Given the description of an element on the screen output the (x, y) to click on. 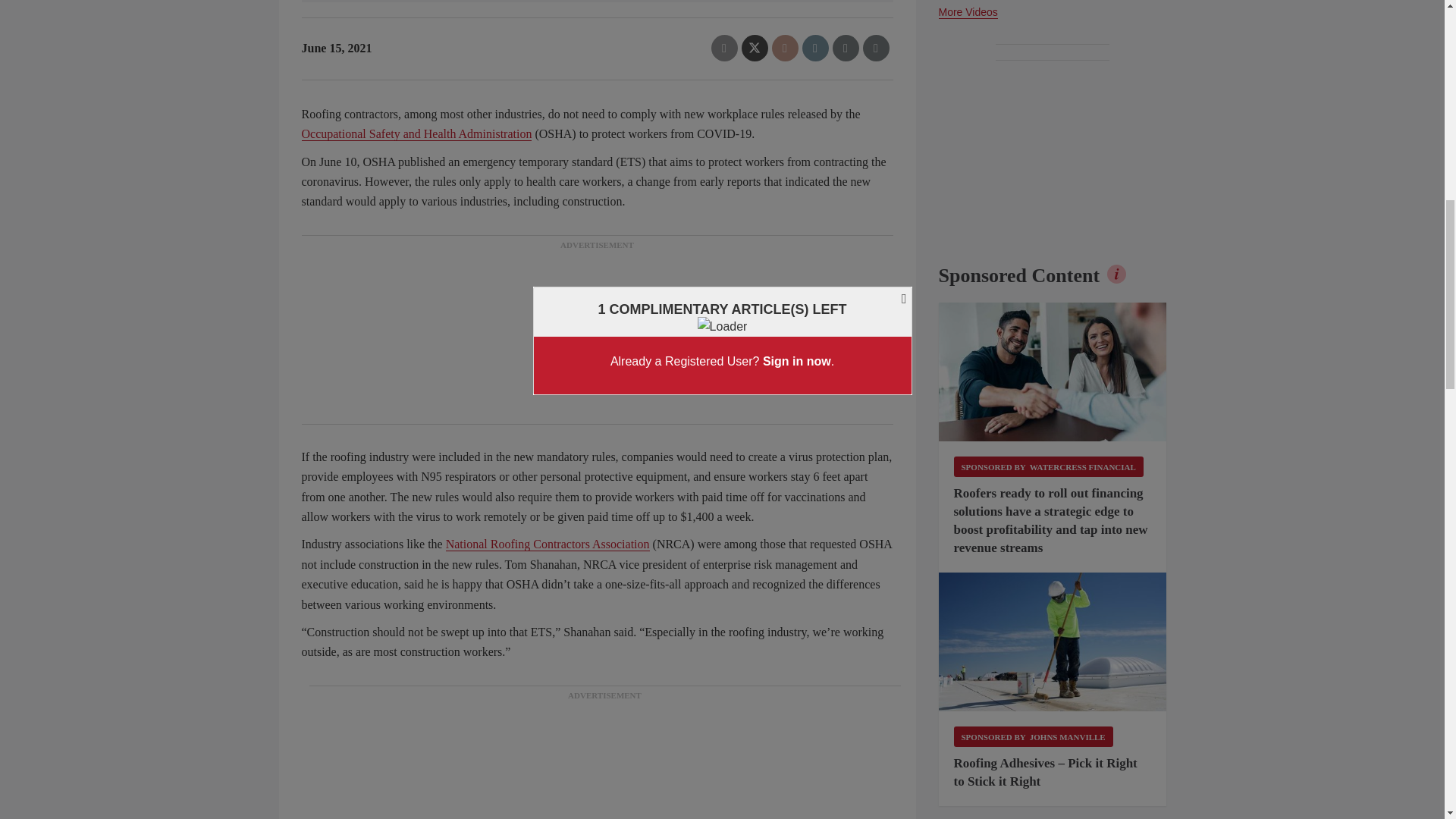
Sponsored by Johns Manville (1033, 736)
Sponsored by Watercress Financial (1047, 466)
